Given the description of an element on the screen output the (x, y) to click on. 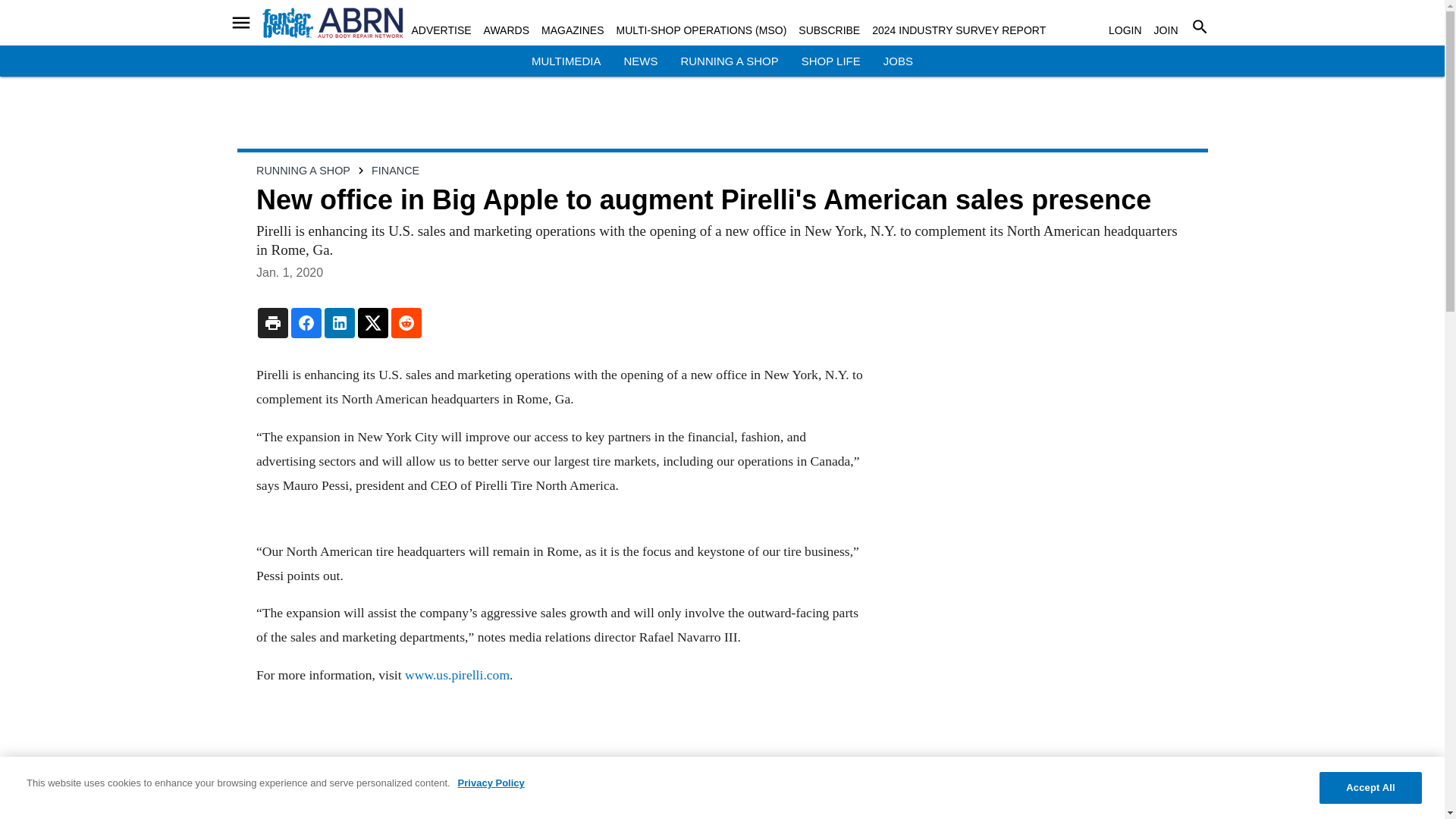
ADVERTISE (440, 30)
AWARDS (506, 30)
2024 INDUSTRY SURVEY REPORT (958, 30)
JOBS (897, 60)
SHOP LIFE (831, 60)
LOGIN (1124, 30)
RUNNING A SHOP (728, 60)
MULTIMEDIA (565, 60)
NEWS (640, 60)
MAGAZINES (572, 30)
SUBSCRIBE (828, 30)
JOIN (1165, 30)
